Given the description of an element on the screen output the (x, y) to click on. 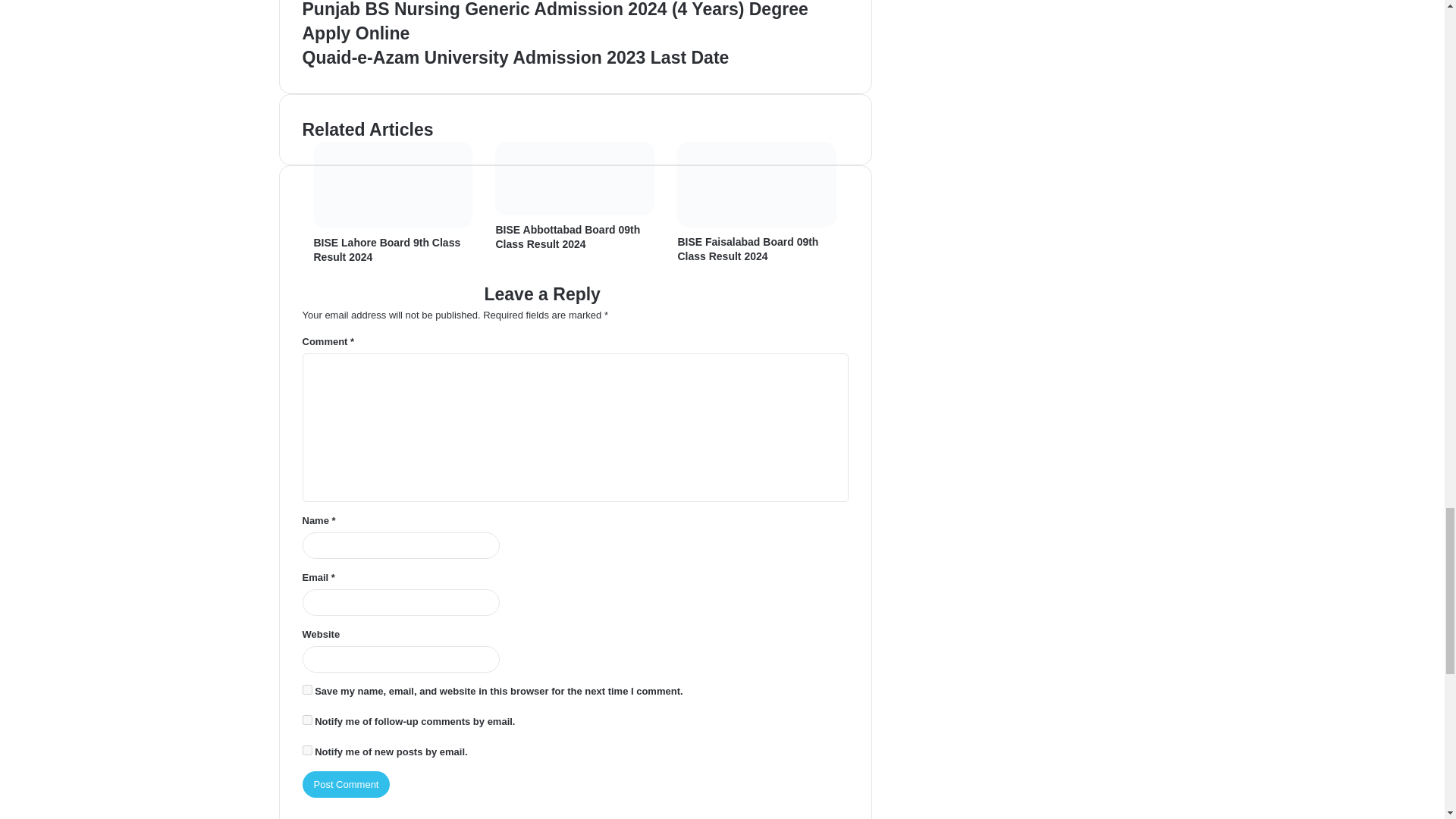
Post Comment (345, 784)
yes (306, 689)
Quaid-e-Azam University Admission 2023 Last Date (574, 57)
BISE Faisalabad Board 09th Class Result 2024 (747, 248)
subscribe (306, 750)
BISE Abbottabad Board 09th Class Result 2024 (567, 236)
BISE Lahore Board 9th Class Result 2024 (387, 249)
subscribe (306, 719)
